Given the description of an element on the screen output the (x, y) to click on. 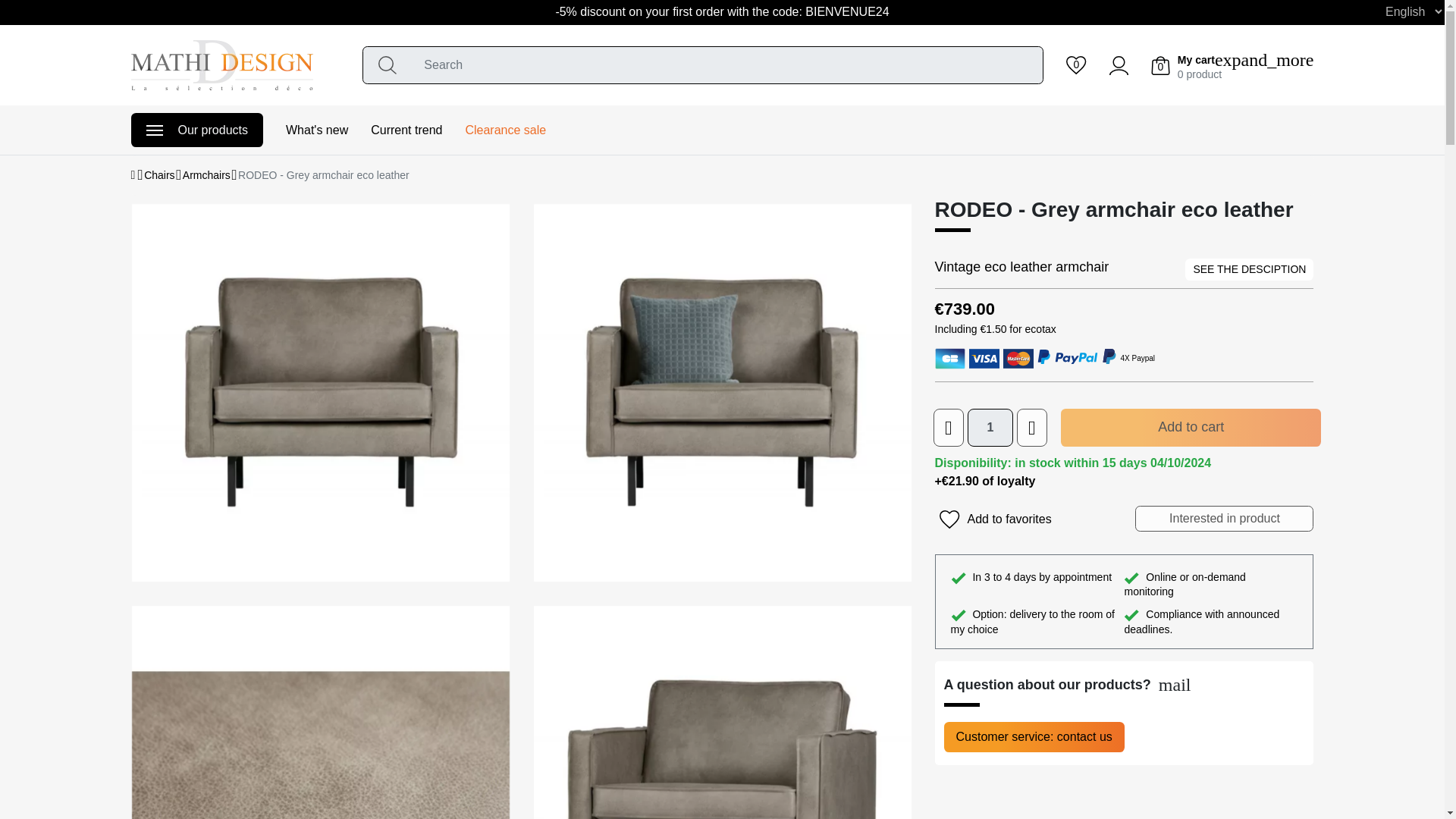
1 (990, 427)
Our products (196, 130)
Mathi Design logo (222, 65)
